Given the description of an element on the screen output the (x, y) to click on. 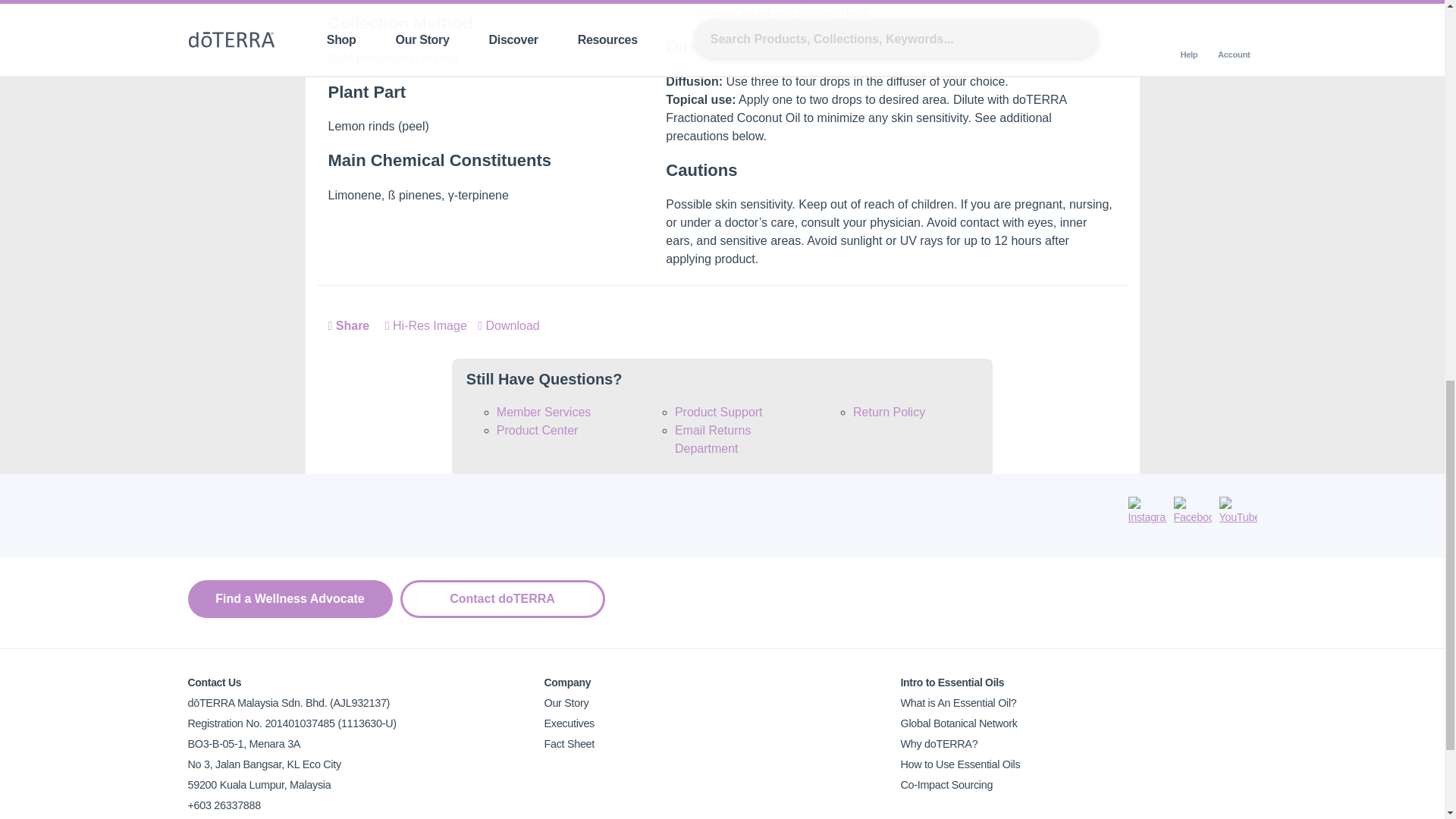
Facebook (1192, 511)
Instagram (1147, 511)
YouTube (1238, 511)
